Given the description of an element on the screen output the (x, y) to click on. 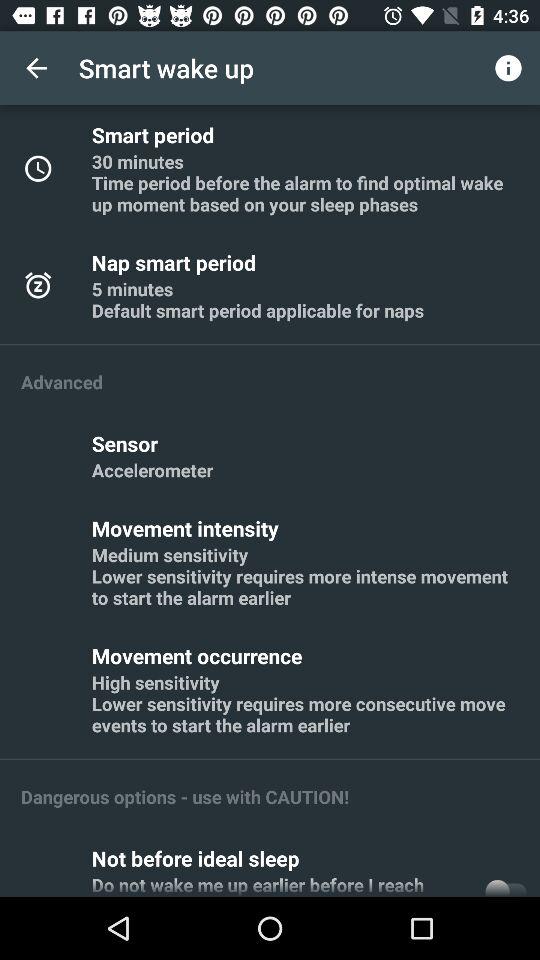
open the icon below the accelerometer (188, 528)
